Given the description of an element on the screen output the (x, y) to click on. 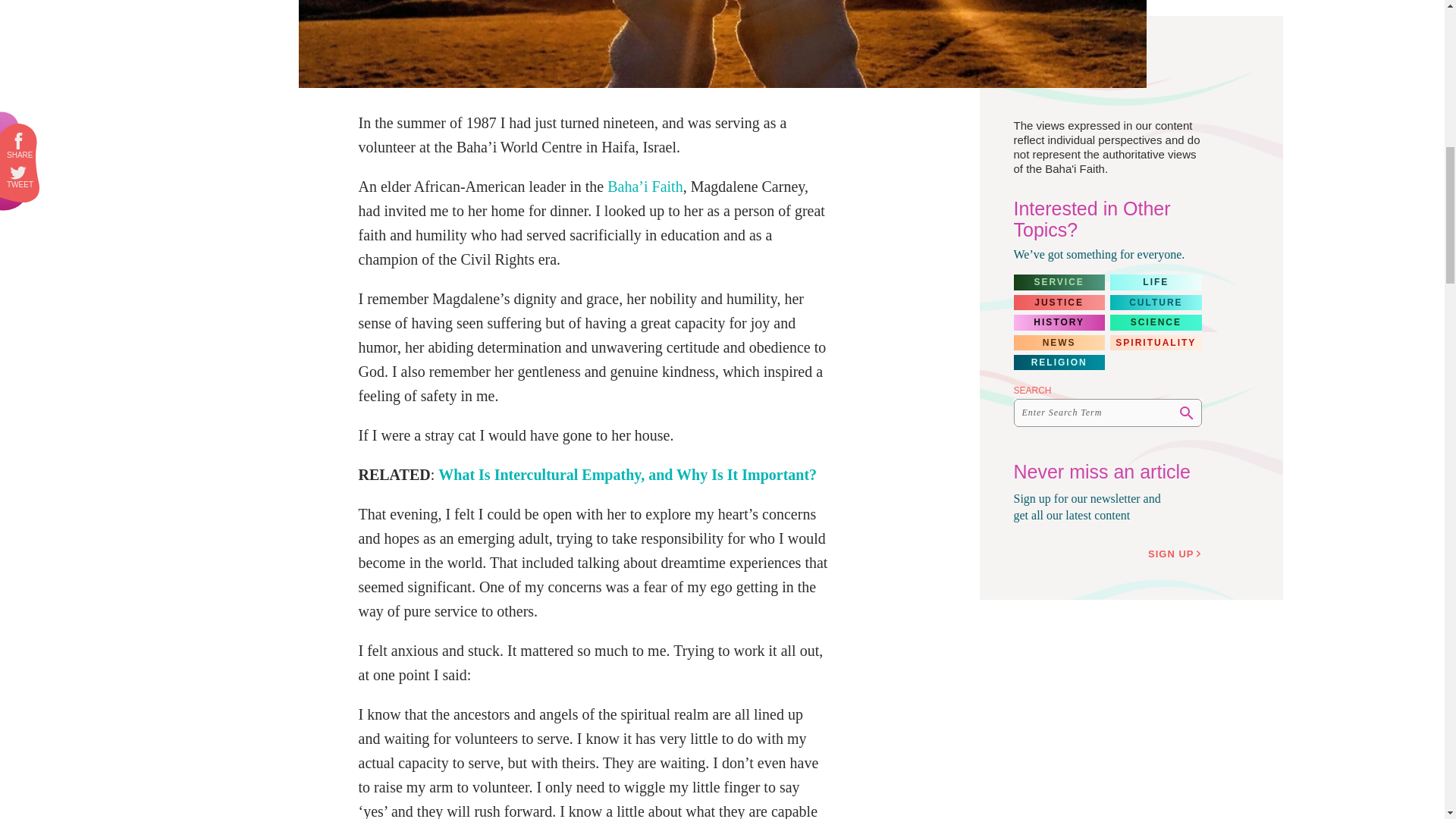
SIGN UP (1176, 554)
JUSTICE (1058, 302)
Search for: (1107, 412)
Search (1185, 413)
LIFE (1155, 281)
CULTURE (1155, 302)
NEWS (1058, 342)
SERVICE (1058, 281)
RELIGION (1058, 362)
SCIENCE (1155, 322)
HISTORY (1058, 322)
SPIRITUALITY (1155, 342)
